Given the description of an element on the screen output the (x, y) to click on. 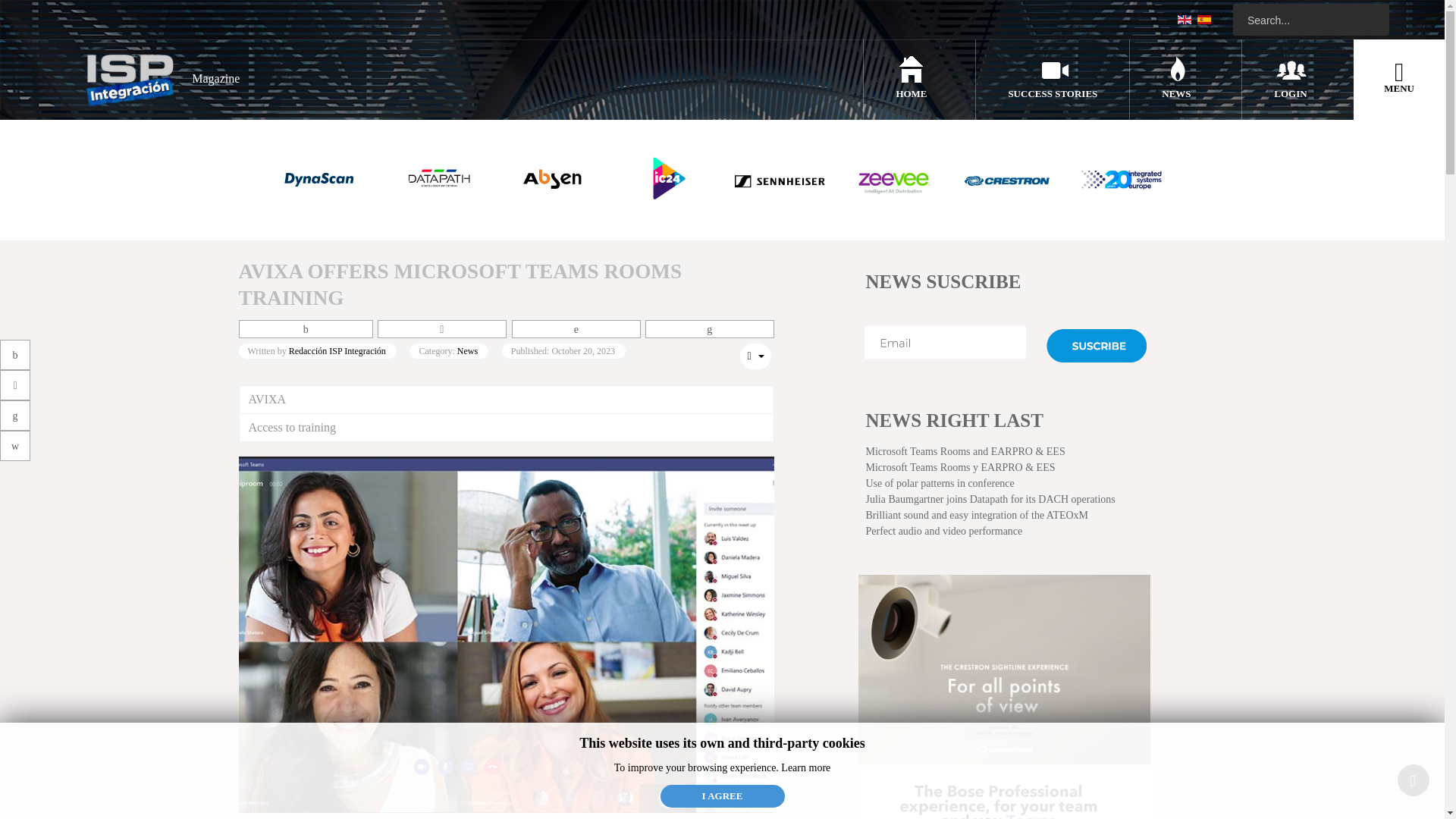
NEWS (1176, 93)
HOME (910, 93)
ISP (157, 78)
    Magazine  (157, 78)
SUCCESS STORIES (1052, 93)
Search... (1311, 20)
LOGIN (1290, 93)
